Given the description of an element on the screen output the (x, y) to click on. 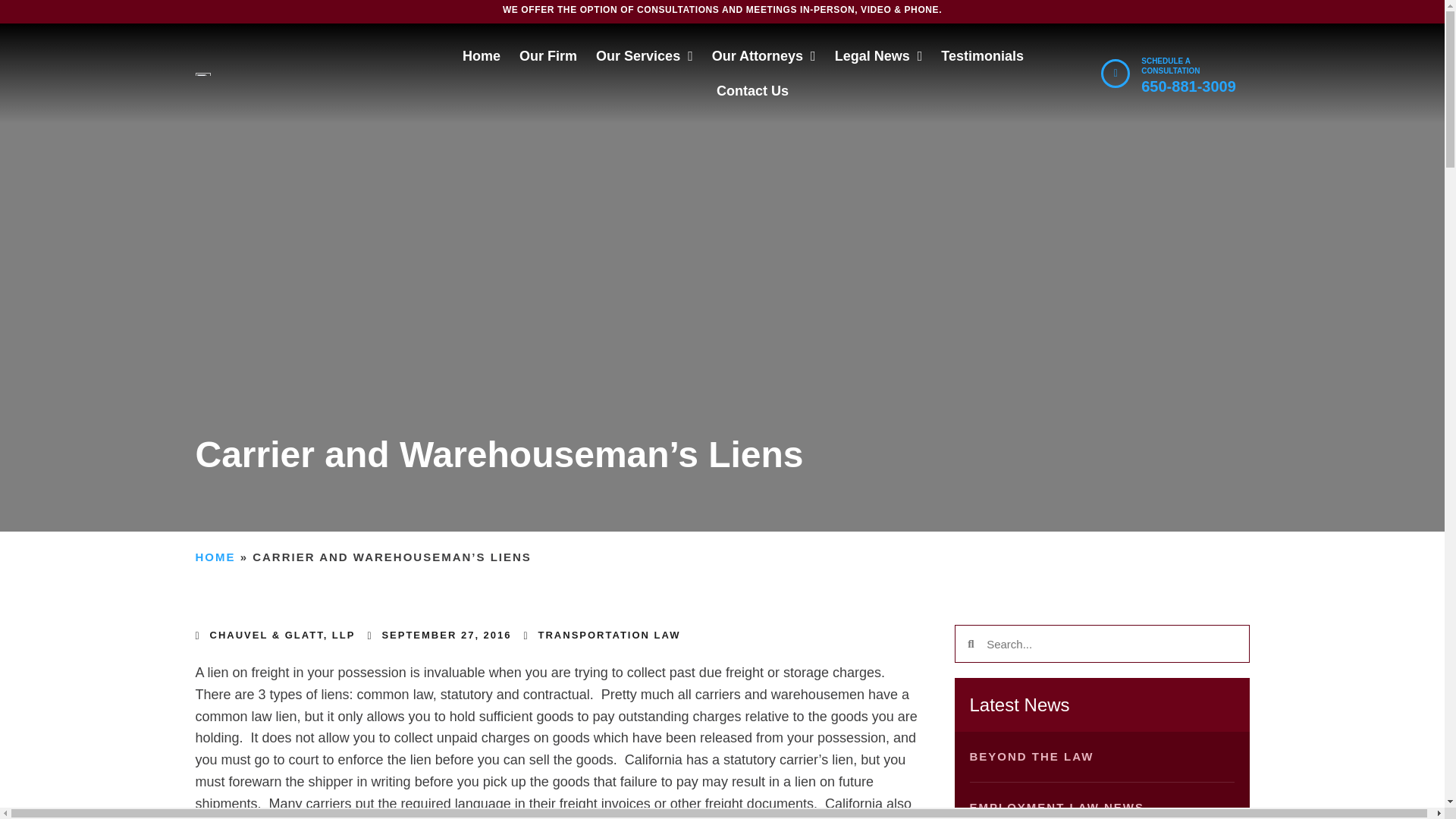
Our Firm (547, 55)
Our Services (644, 55)
Home (481, 55)
Our Attorneys (763, 55)
Testimonials (981, 55)
Legal News (878, 55)
Contact Us (752, 90)
